Given the description of an element on the screen output the (x, y) to click on. 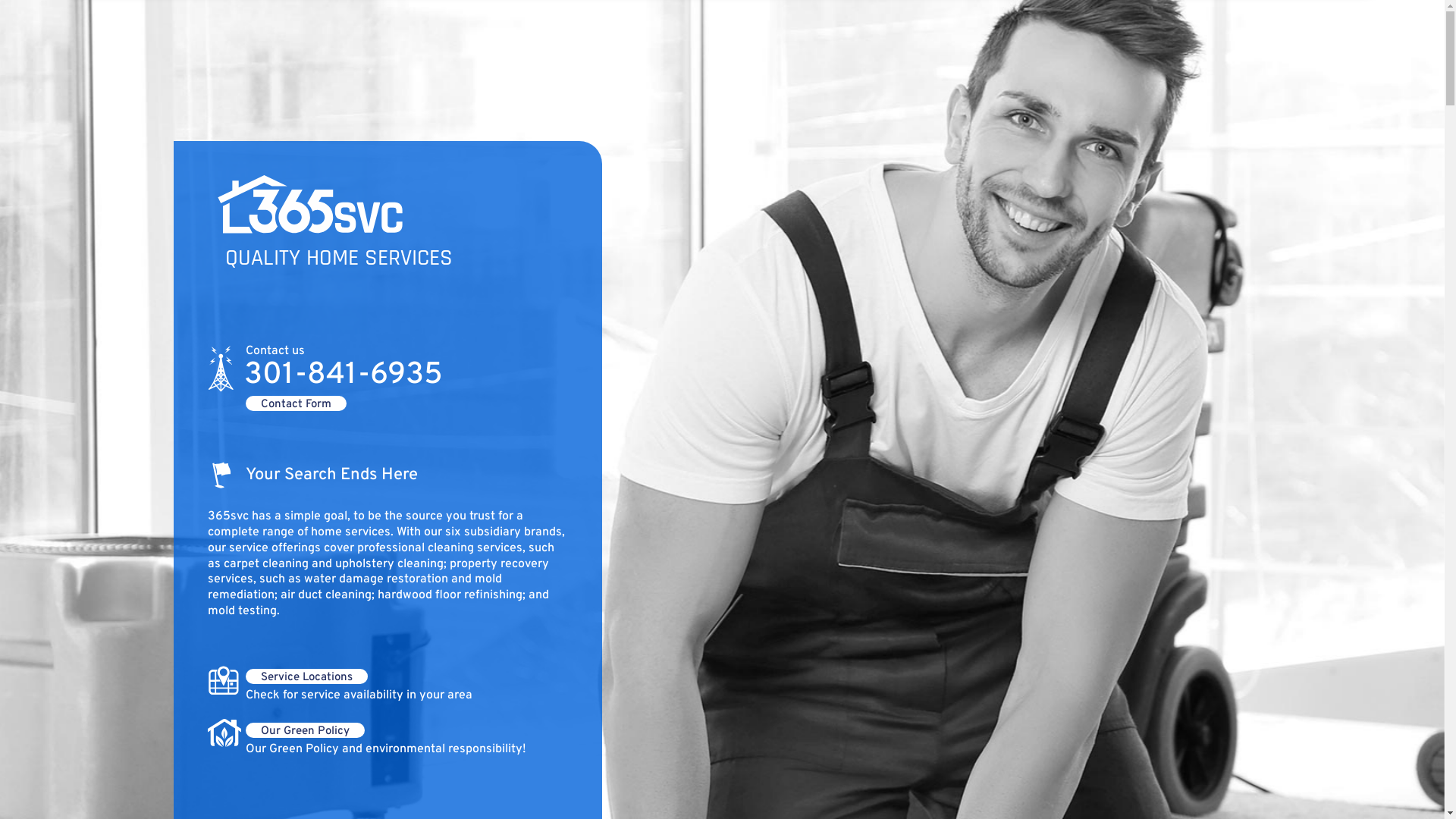
301-841-6935 Element type: text (343, 375)
Our Green Policy Element type: text (304, 729)
Contact Form Element type: text (295, 403)
Service Locations Element type: text (306, 676)
